Given the description of an element on the screen output the (x, y) to click on. 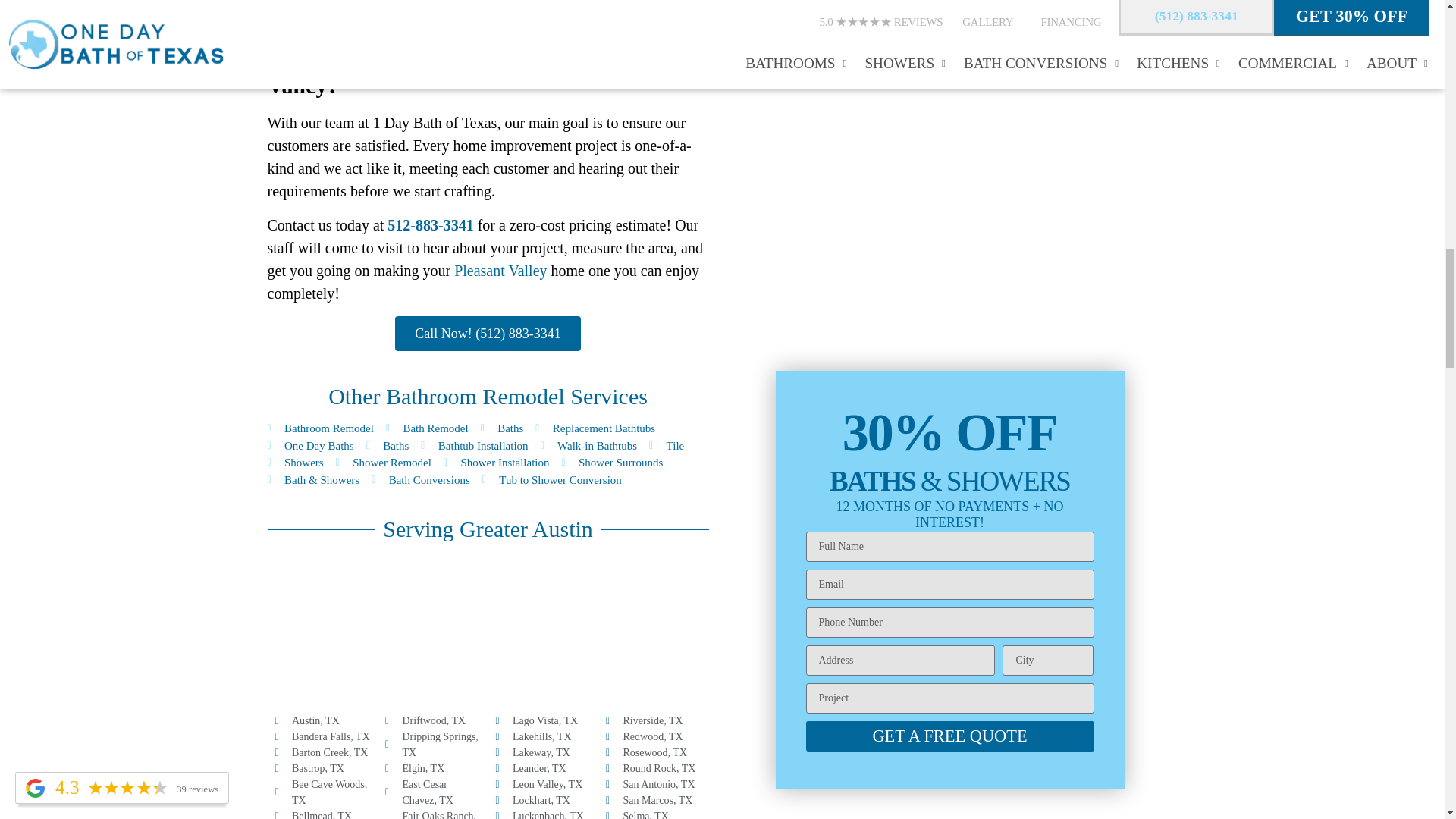
pleasant valley, tx (486, 628)
